Given the description of an element on the screen output the (x, y) to click on. 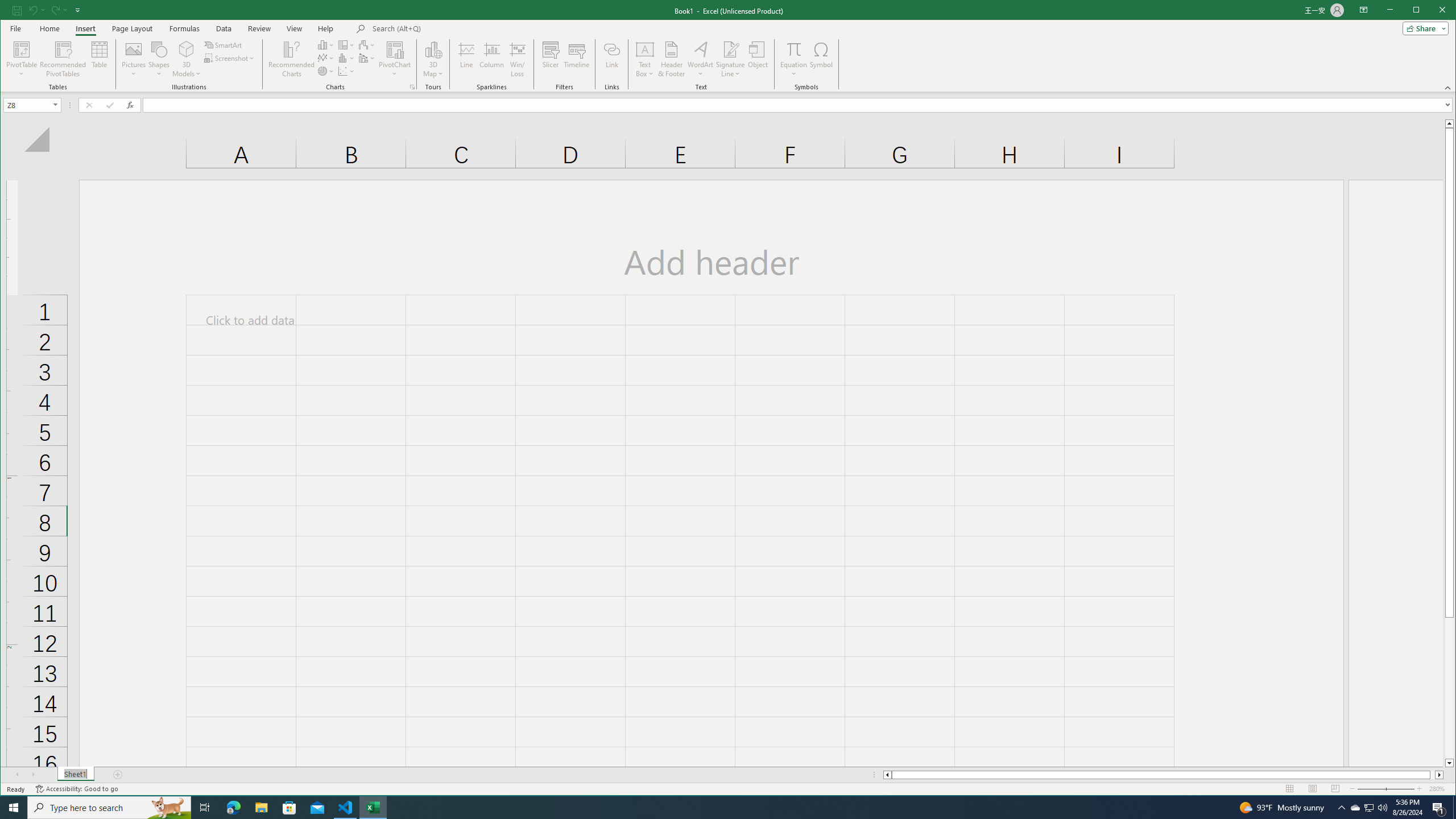
Insert Waterfall, Funnel, Stock, Surface, or Radar Chart (366, 44)
Recommended Charts (411, 86)
Type here to search (108, 807)
Visual Studio Code - 1 running window (345, 807)
Equation (793, 48)
Link (611, 59)
Equation (793, 59)
3D Map (432, 59)
